Given the description of an element on the screen output the (x, y) to click on. 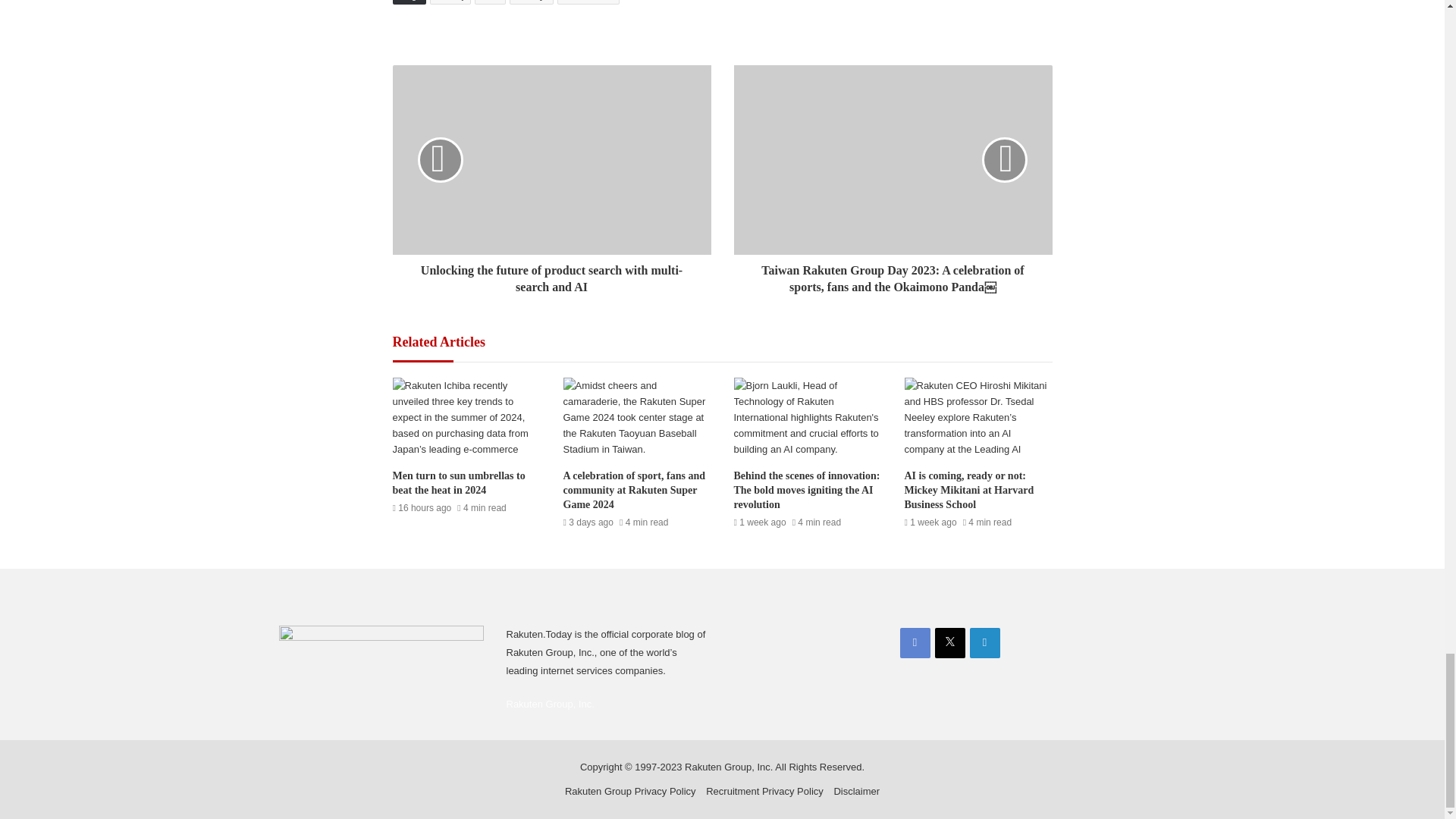
event (489, 2)
Rakuten India (588, 2)
diversity (449, 2)
Men turn to sun umbrellas to beat the heat in 2024 (466, 419)
Men turn to sun umbrellas to beat the heat in 2024 (459, 483)
Men turn to sun umbrellas to beat the heat in 2024 (459, 483)
